Given the description of an element on the screen output the (x, y) to click on. 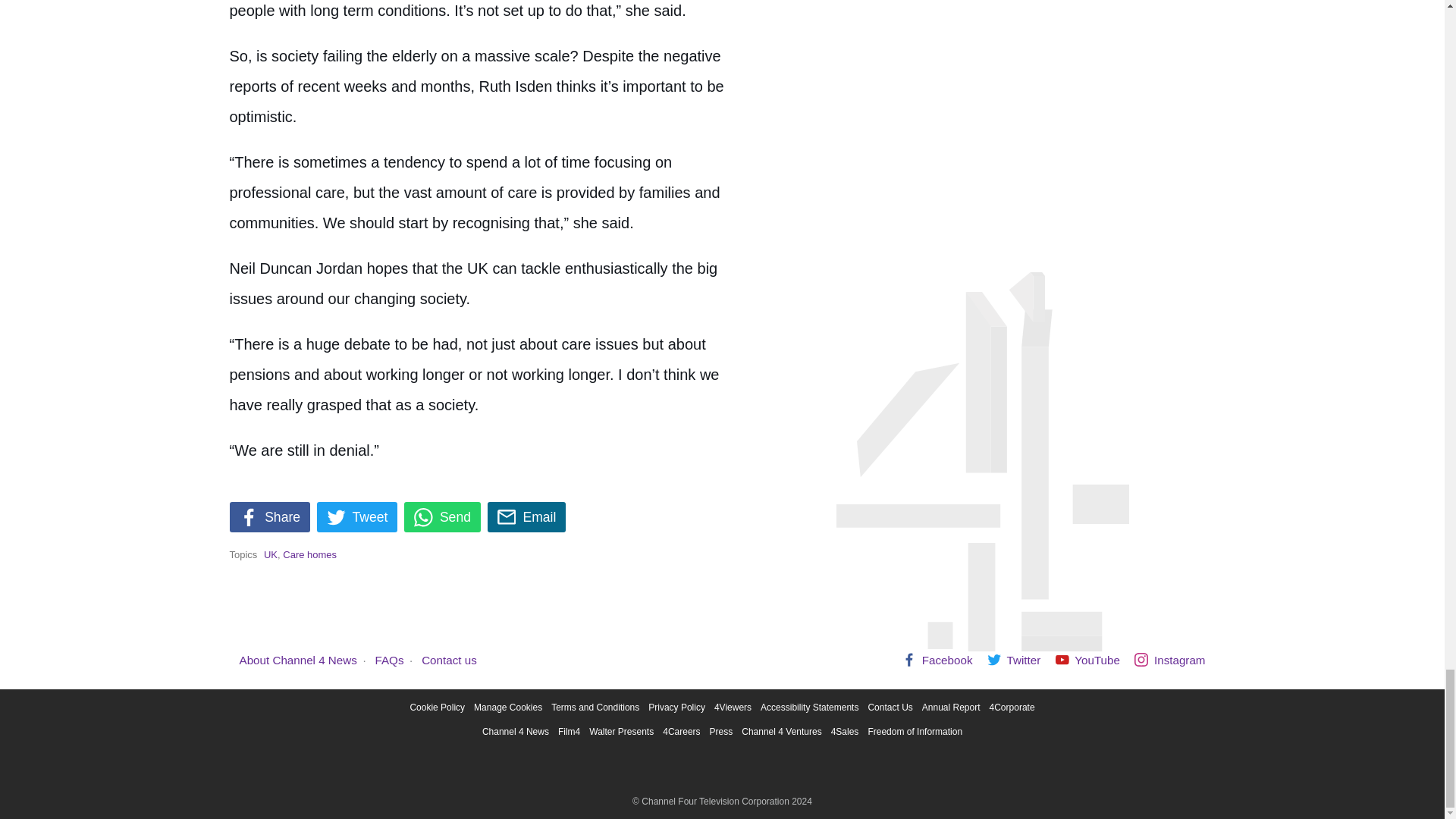
Send (442, 517)
Share (269, 517)
Tweet (357, 517)
